Given the description of an element on the screen output the (x, y) to click on. 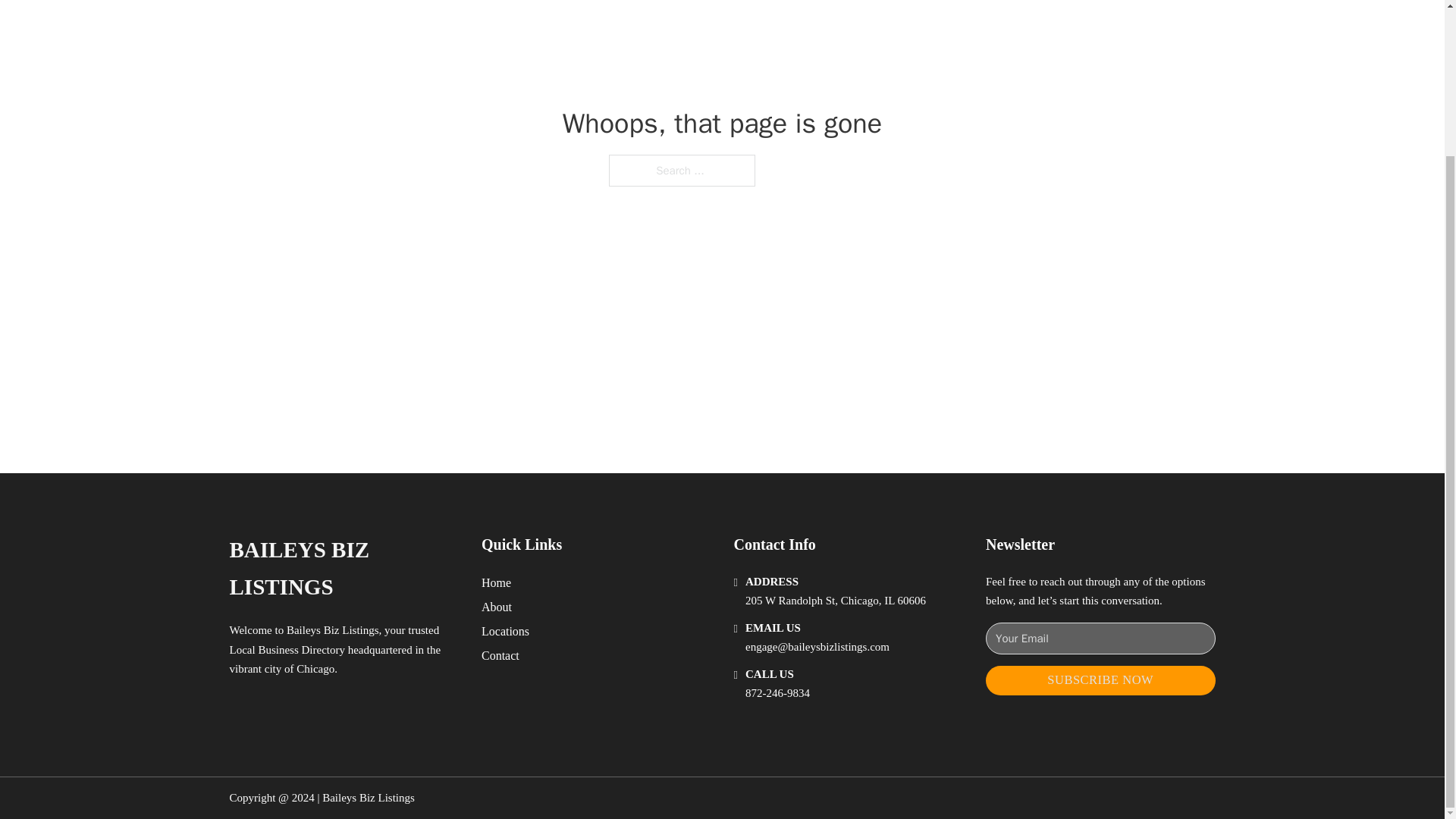
Home (496, 582)
872-246-9834 (777, 693)
Contact (500, 655)
About (496, 607)
SUBSCRIBE NOW (1100, 680)
Locations (505, 630)
BAILEYS BIZ LISTINGS (343, 568)
